Given the description of an element on the screen output the (x, y) to click on. 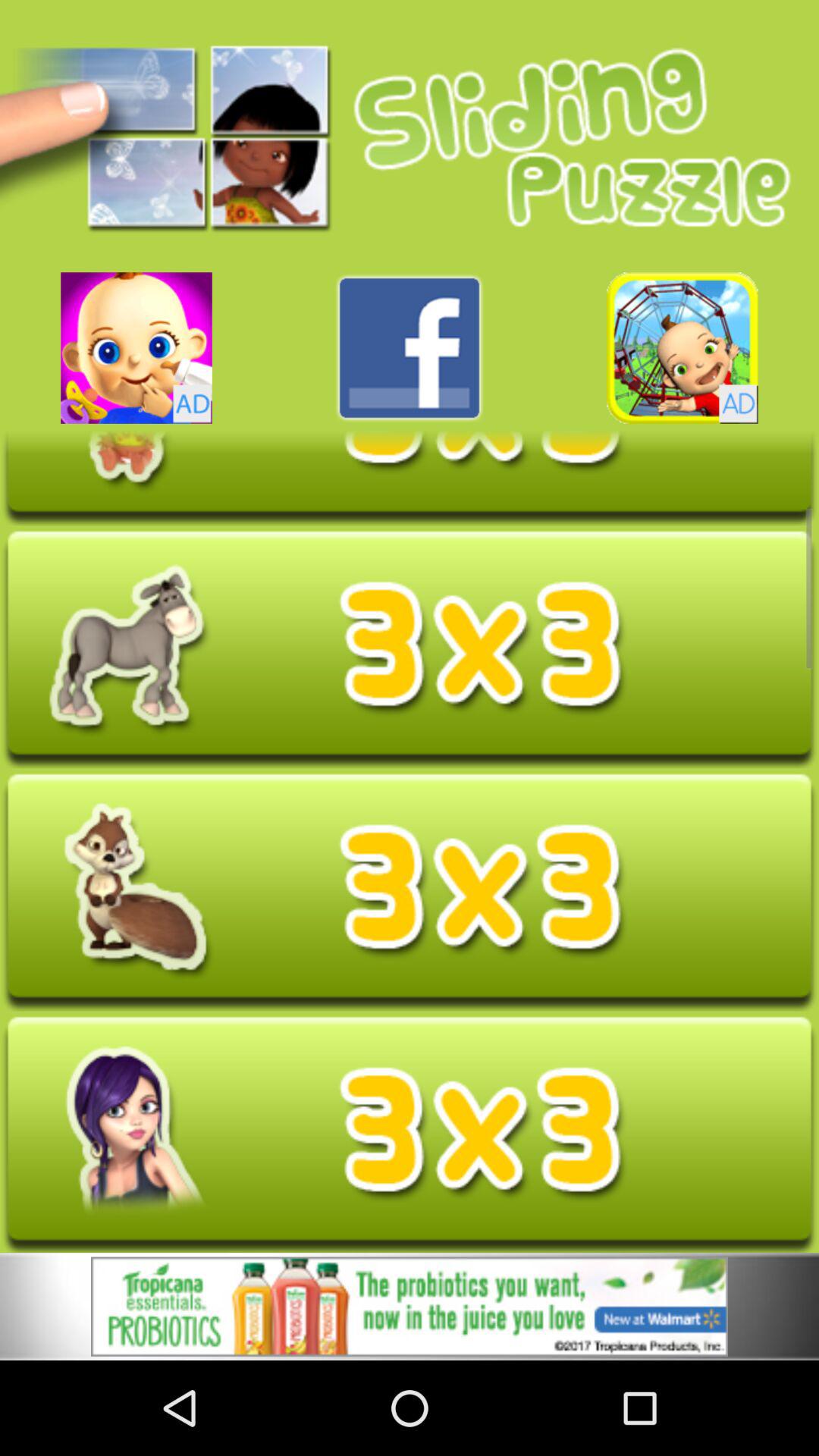
banner advertisement (682, 347)
